Given the description of an element on the screen output the (x, y) to click on. 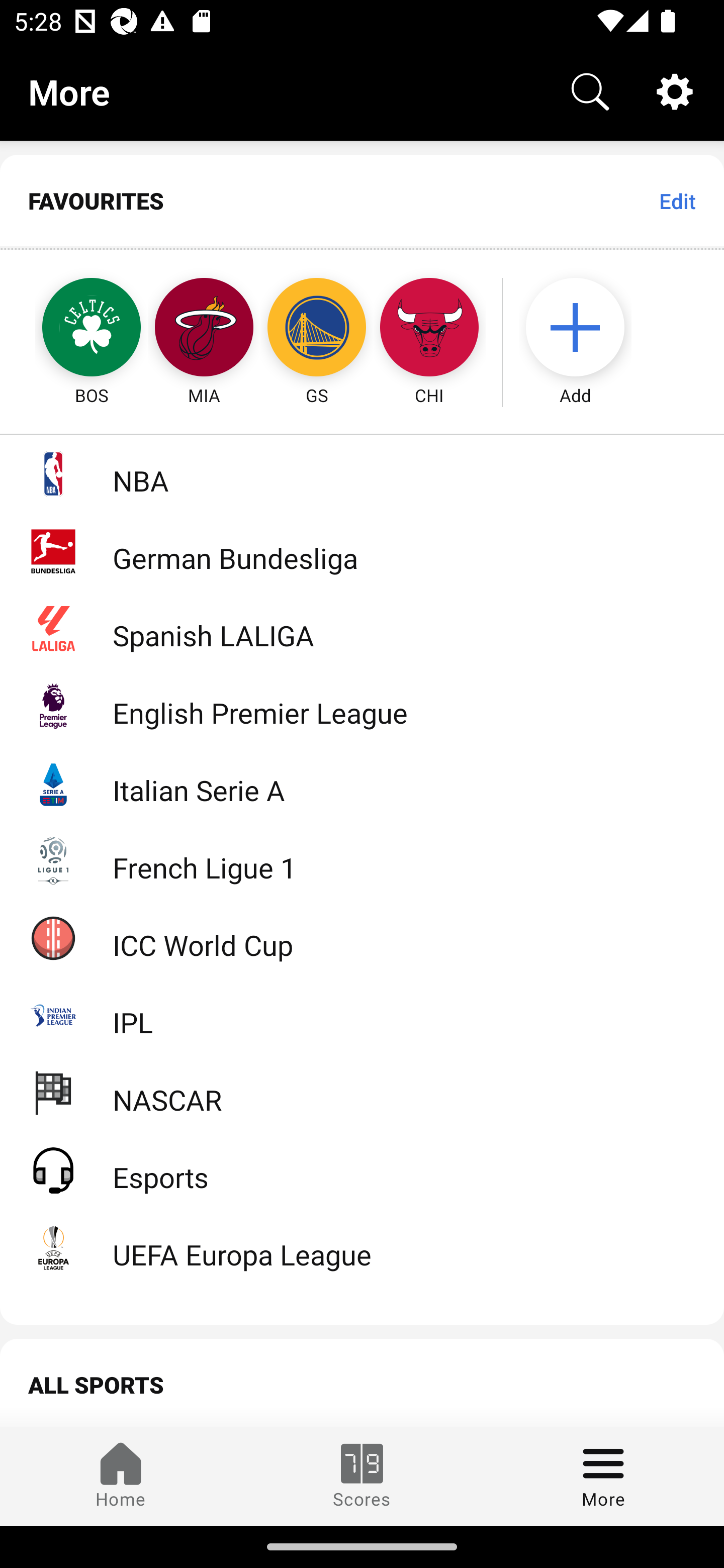
Search (590, 90)
Settings (674, 90)
Edit (676, 200)
BOS Boston Celtics (73, 328)
MIA Miami Heat (203, 328)
GS Golden State Warriors (316, 328)
CHI Chicago Bulls (428, 328)
 Add (584, 328)
NBA (362, 473)
German Bundesliga (362, 550)
Spanish LALIGA (362, 627)
English Premier League (362, 705)
Italian Serie A (362, 782)
French Ligue 1 (362, 859)
ICC World Cup (362, 937)
IPL (362, 1014)
NASCAR (362, 1091)
Esports (362, 1169)
UEFA Europa League (362, 1246)
Home (120, 1475)
Scores (361, 1475)
